Given the description of an element on the screen output the (x, y) to click on. 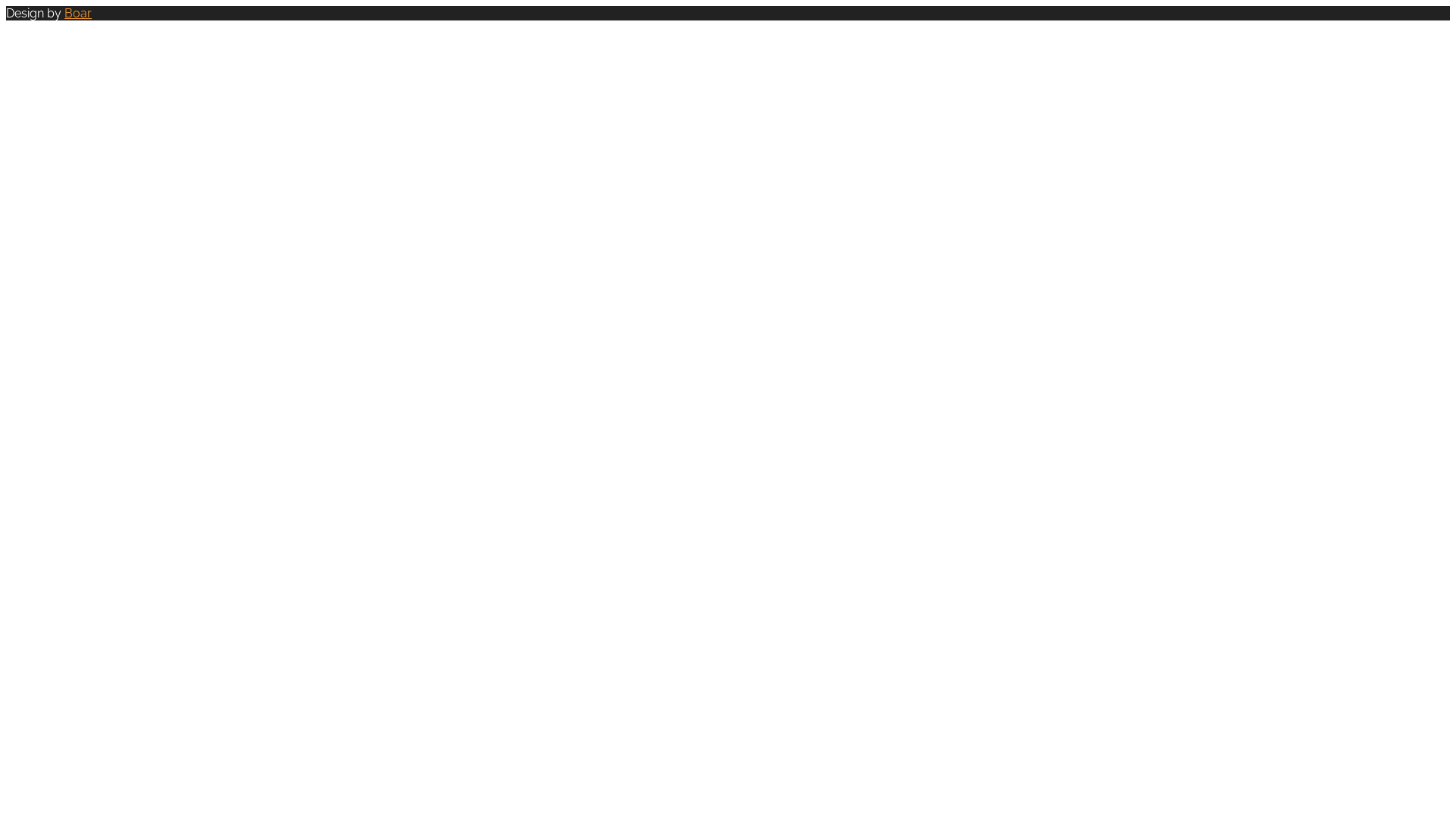
Boar Element type: text (77, 13)
